Given the description of an element on the screen output the (x, y) to click on. 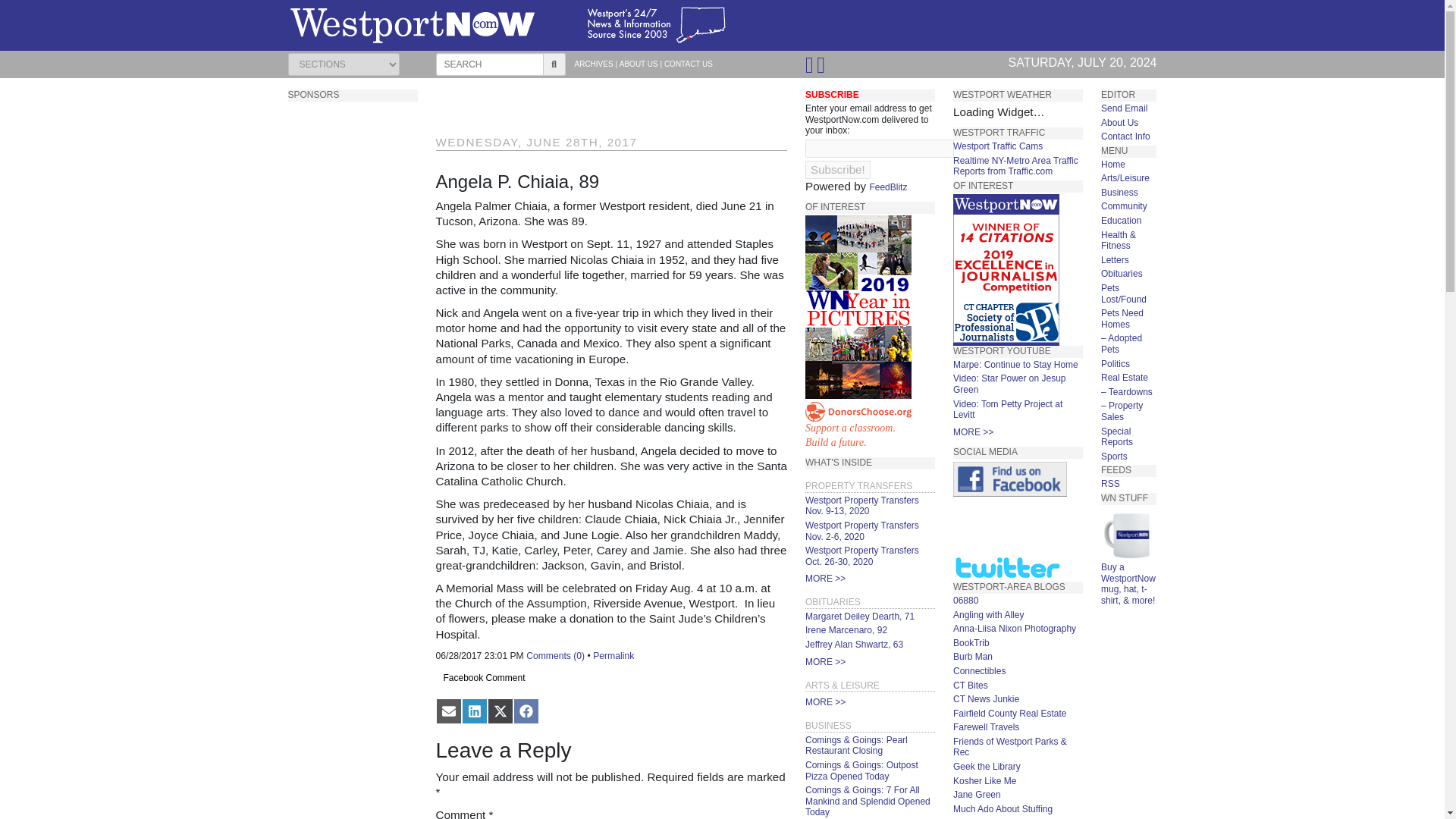
ABOUT US (639, 63)
Share on Facebook (525, 710)
Share on LinkedIn (473, 710)
Westport Property Transfers Oct. 26-30, 2020 (861, 556)
Westport Property Transfers Nov. 2-6, 2020 (861, 531)
Permalink (612, 655)
CONTACT US (688, 63)
Jeffrey Alan Shwartz, 63 (853, 644)
Irene Marcenaro, 92 (845, 629)
Share on Email (448, 710)
Search for: (489, 64)
Westport Property Transfers Nov. 9-13, 2020 (861, 505)
FeedBlitz (888, 186)
Subscribe! (837, 169)
Margaret Deiley Dearth, 71 (859, 615)
